Given the description of an element on the screen output the (x, y) to click on. 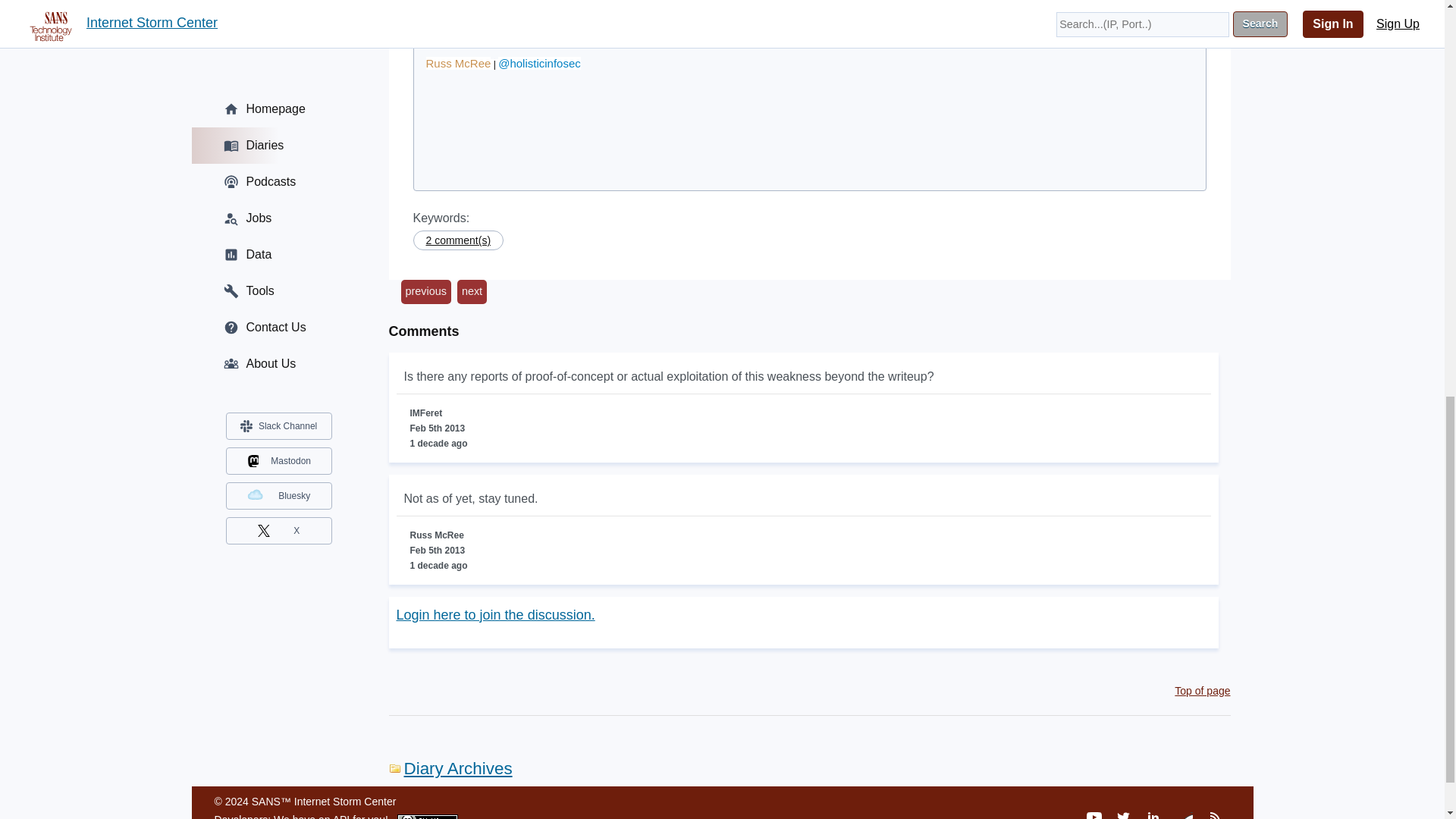
Top of page (1202, 690)
Russ McRee (459, 62)
Diary Archives (450, 768)
next (471, 291)
previous (424, 291)
page (681, 31)
Login here to join the discussion. (495, 614)
